Given the description of an element on the screen output the (x, y) to click on. 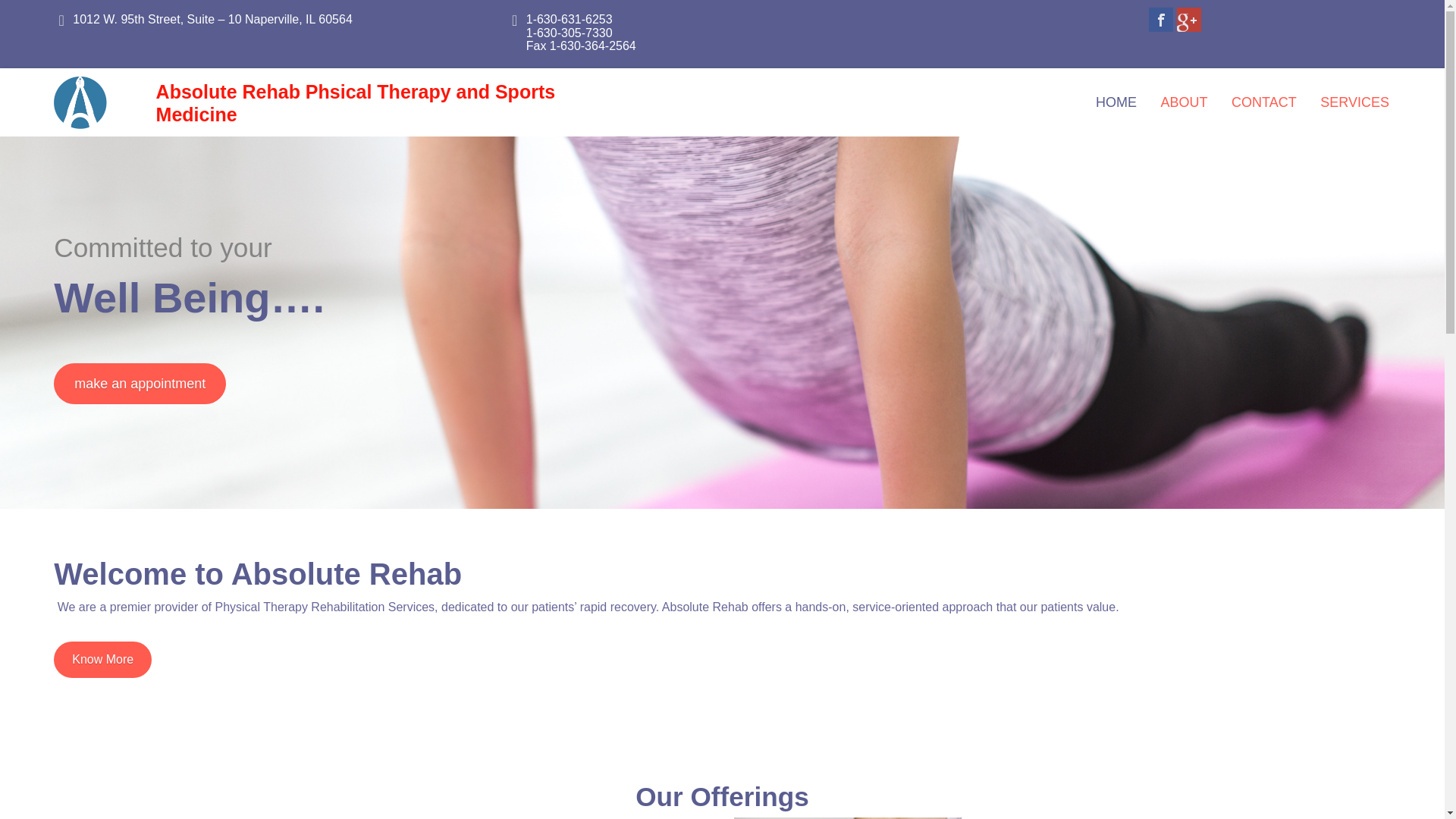
Know More (102, 659)
ABOUT (1184, 102)
Absolute Rehab Phsical Therapy and Sports Medicine (355, 103)
Facebook (1160, 19)
SERVICES (1354, 102)
make an appointment (139, 383)
HOME (1115, 102)
CONTACT (1263, 102)
unnamed (79, 102)
